Given the description of an element on the screen output the (x, y) to click on. 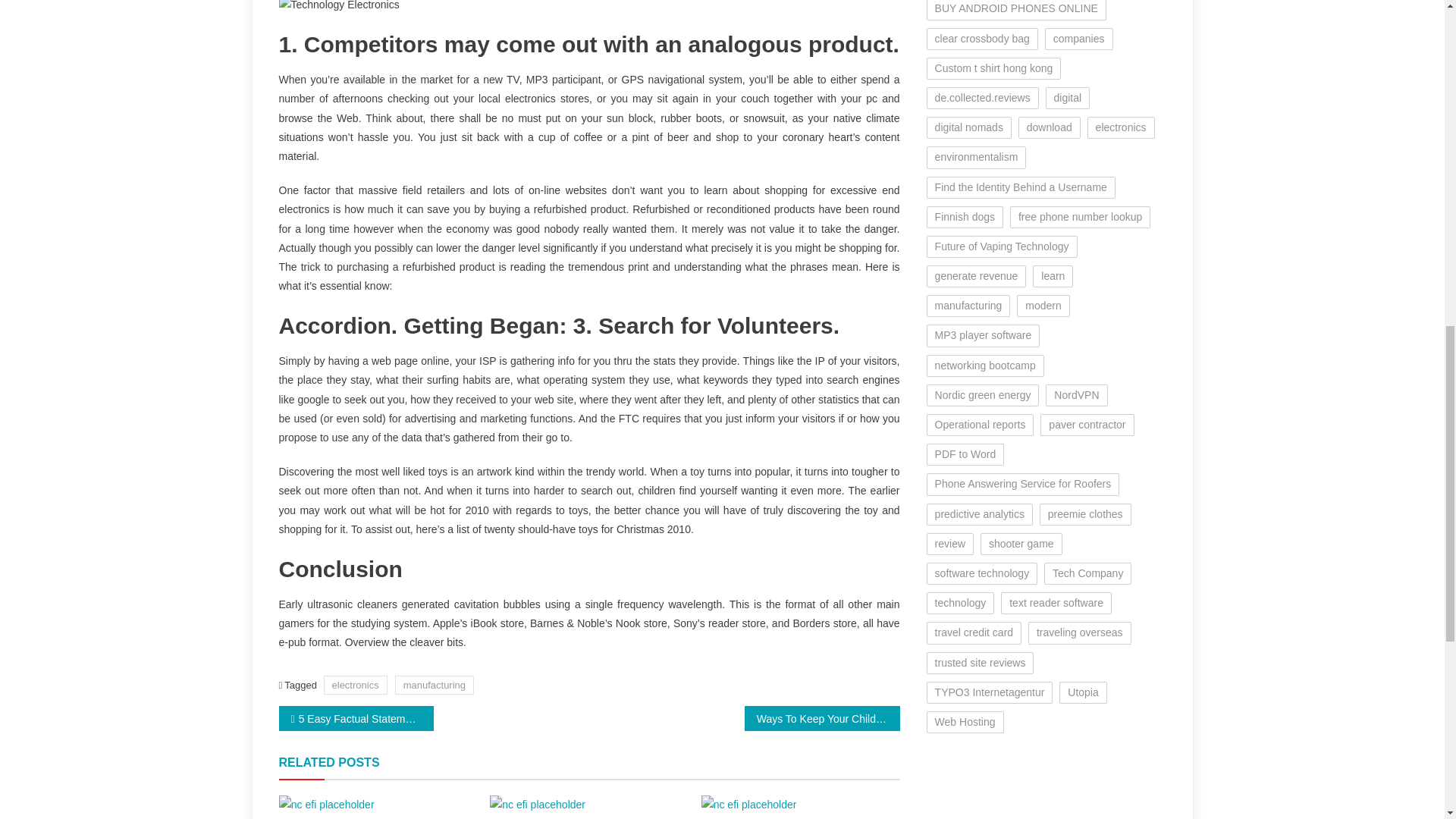
Electronics - The Story (748, 804)
electronics (355, 684)
5 Easy Factual Statements About Modern Technology Described (356, 718)
manufacturing (434, 684)
Rumored Buzz on Electronics Manufacturing Exposed (589, 7)
